Given the description of an element on the screen output the (x, y) to click on. 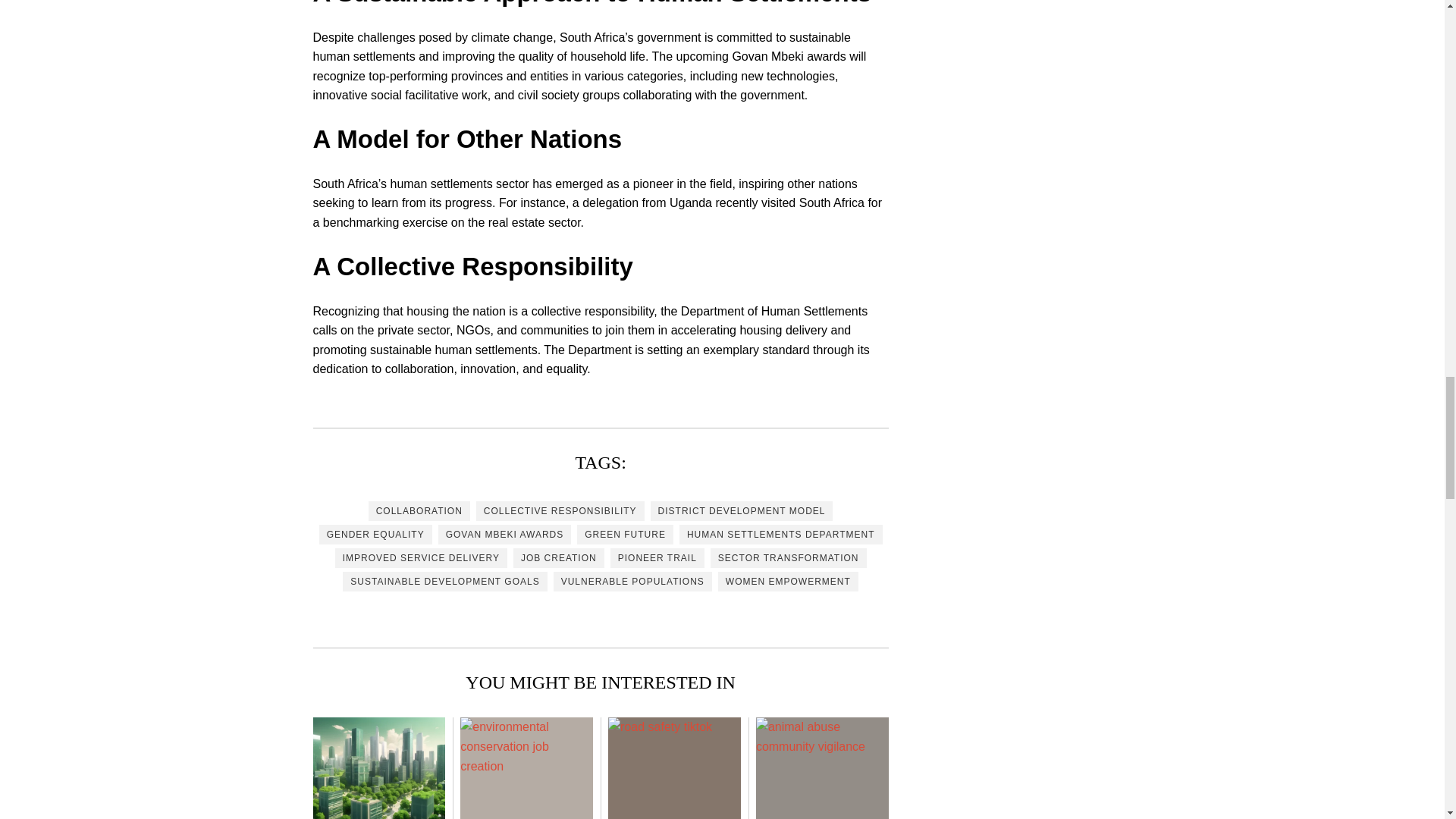
PIONEER TRAIL (657, 557)
VULNERABLE POPULATIONS (632, 581)
GENDER EQUALITY (375, 534)
WOMEN EMPOWERMENT (788, 581)
DISTRICT DEVELOPMENT MODEL (741, 510)
HUMAN SETTLEMENTS DEPARTMENT (780, 534)
IMPROVED SERVICE DELIVERY (420, 557)
COLLABORATION (419, 510)
JOB CREATION (558, 557)
SUSTAINABLE DEVELOPMENT GOALS (444, 581)
